Given the description of an element on the screen output the (x, y) to click on. 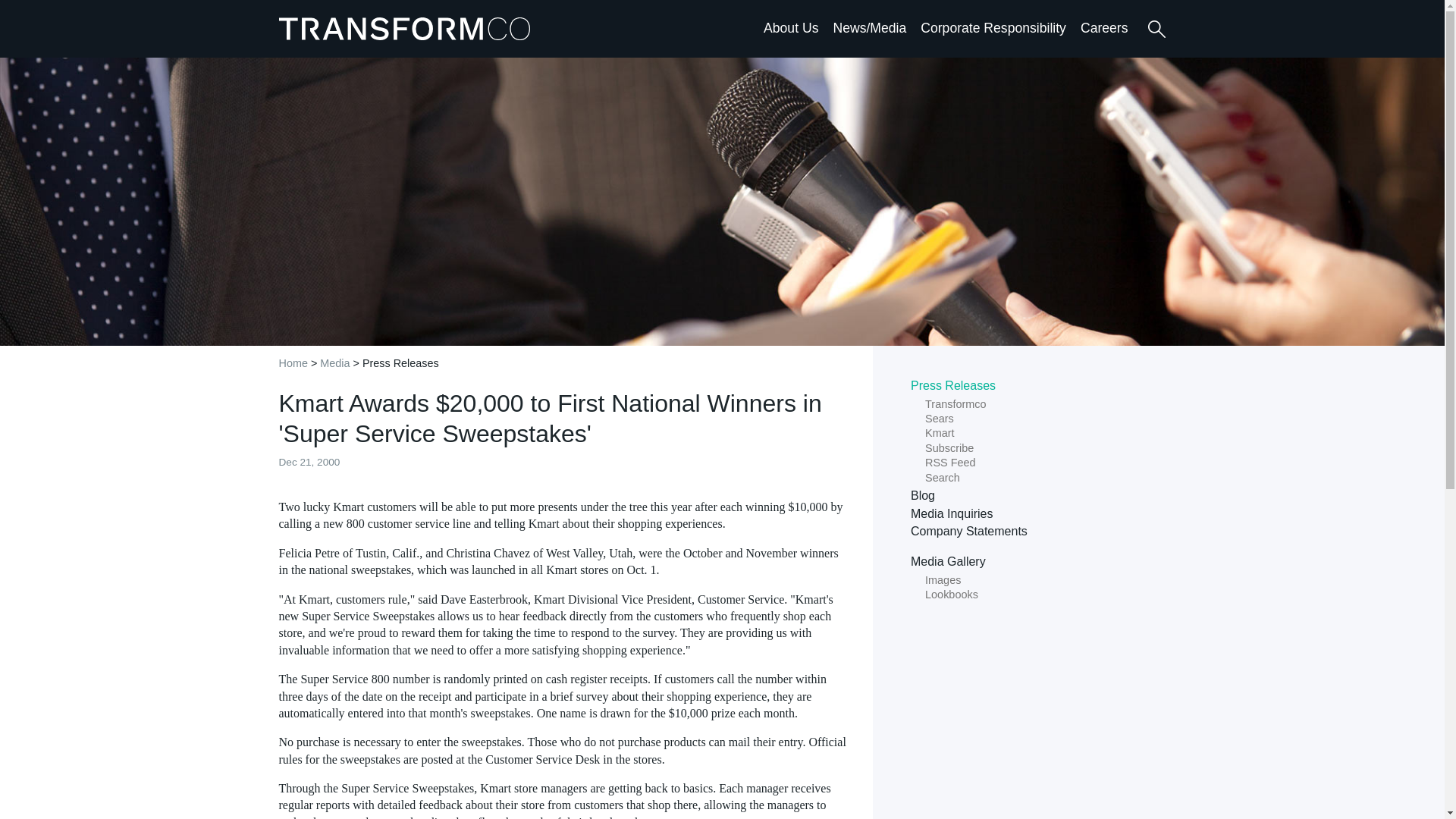
Transformco (408, 28)
Transformco (408, 28)
About Us (790, 28)
Search (1156, 28)
Corporate Responsibility (993, 28)
